Given the description of an element on the screen output the (x, y) to click on. 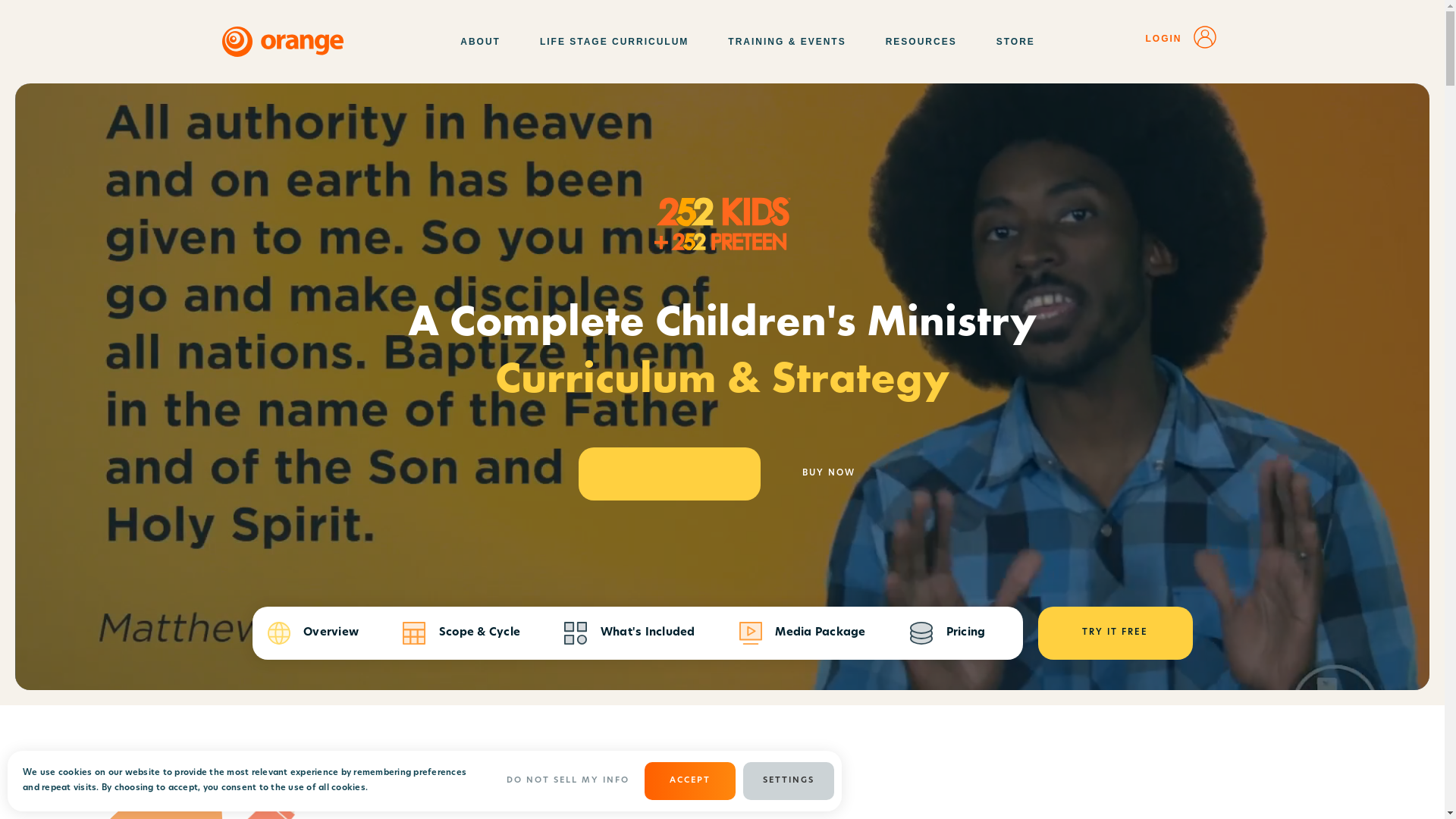
ACCEPT Element type: text (689, 781)
RESOURCES Element type: text (925, 41)
LOGIN Element type: text (1180, 41)
Media Package Element type: text (802, 632)
Overview Element type: text (312, 632)
STORE Element type: text (1015, 41)
What's Included Element type: text (629, 632)
SETTINGS Element type: text (788, 781)
TRAINING & EVENTS Element type: text (791, 41)
Pricing Element type: text (947, 632)
TRY IT FREE Element type: text (1115, 632)
LIFE STAGE CURRICULUM Element type: text (618, 41)
ABOUT Element type: text (484, 41)
BUY NOW Element type: text (828, 473)
Scope & Cycle Element type: text (461, 632)
DO NOT SELL MY INFO Element type: text (567, 780)
